Given the description of an element on the screen output the (x, y) to click on. 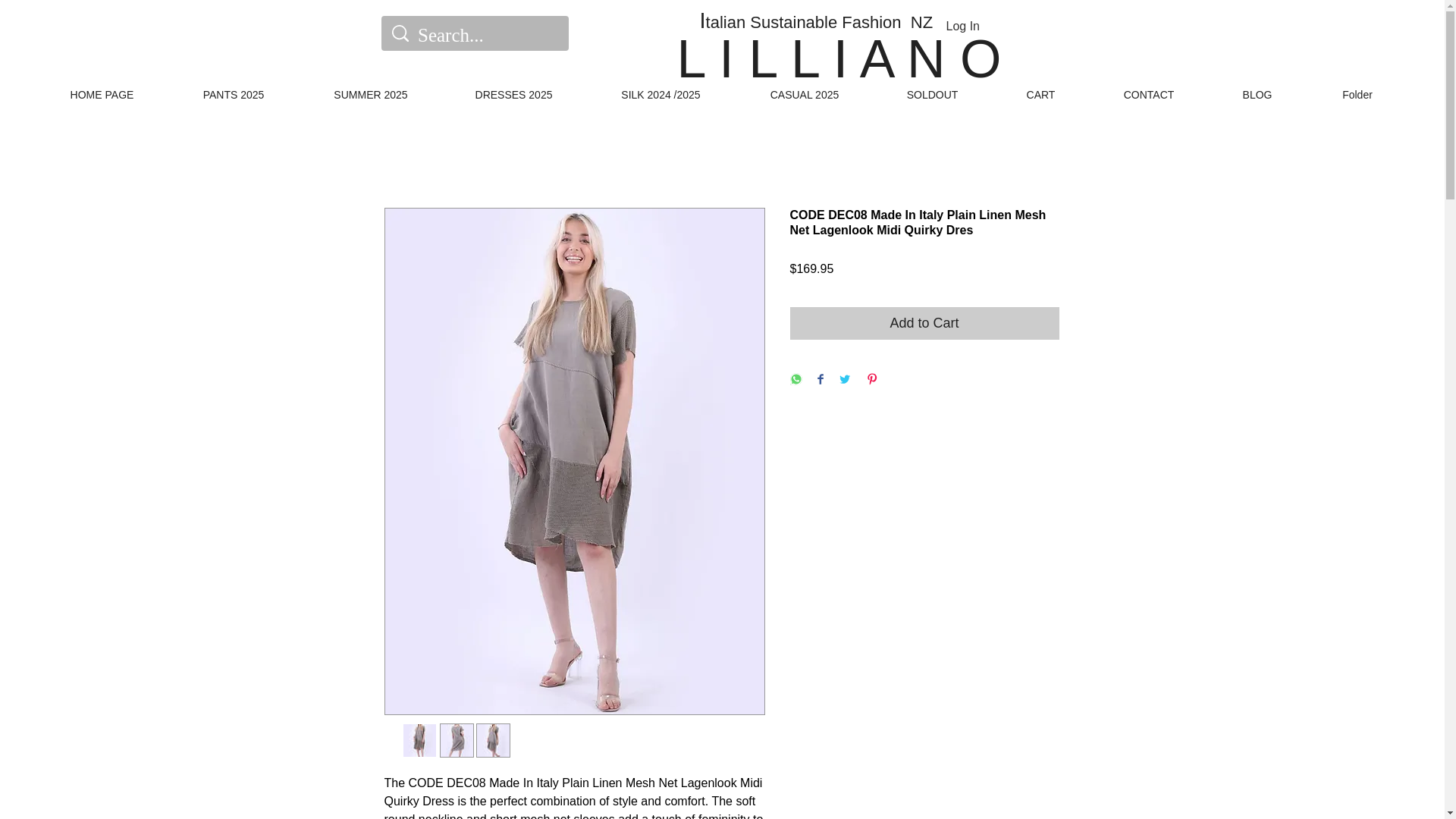
PANTS 2025 (233, 90)
CART (1040, 90)
CONTACT (1148, 90)
SUMMER 2025 (370, 90)
Add to Cart (924, 323)
DRESSES 2025 (513, 90)
SOLDOUT (931, 90)
BLOG (1257, 90)
HOME PAGE (101, 90)
